Given the description of an element on the screen output the (x, y) to click on. 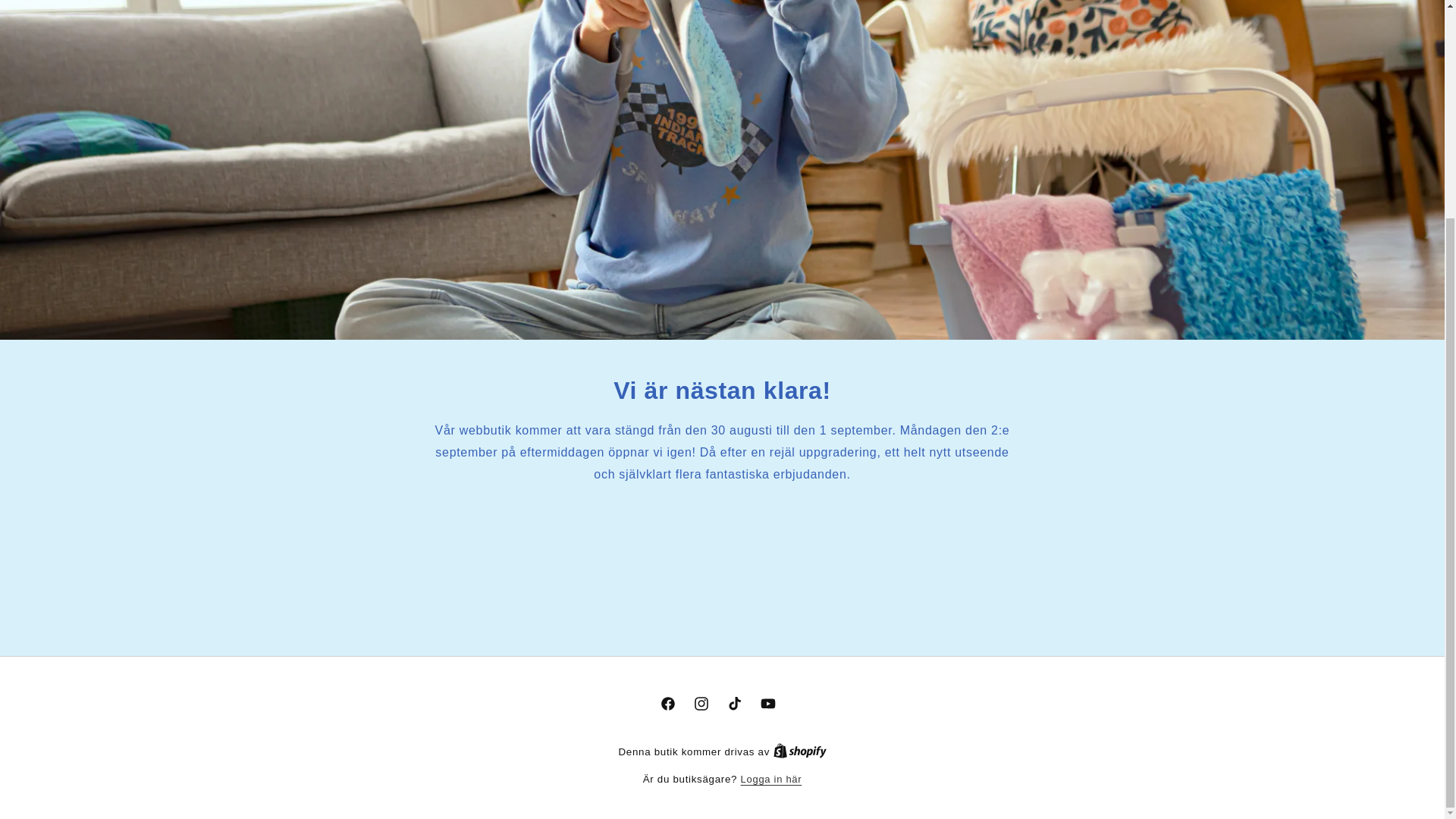
YouTube (767, 703)
TikTok (734, 703)
Instagram (700, 703)
